Given the description of an element on the screen output the (x, y) to click on. 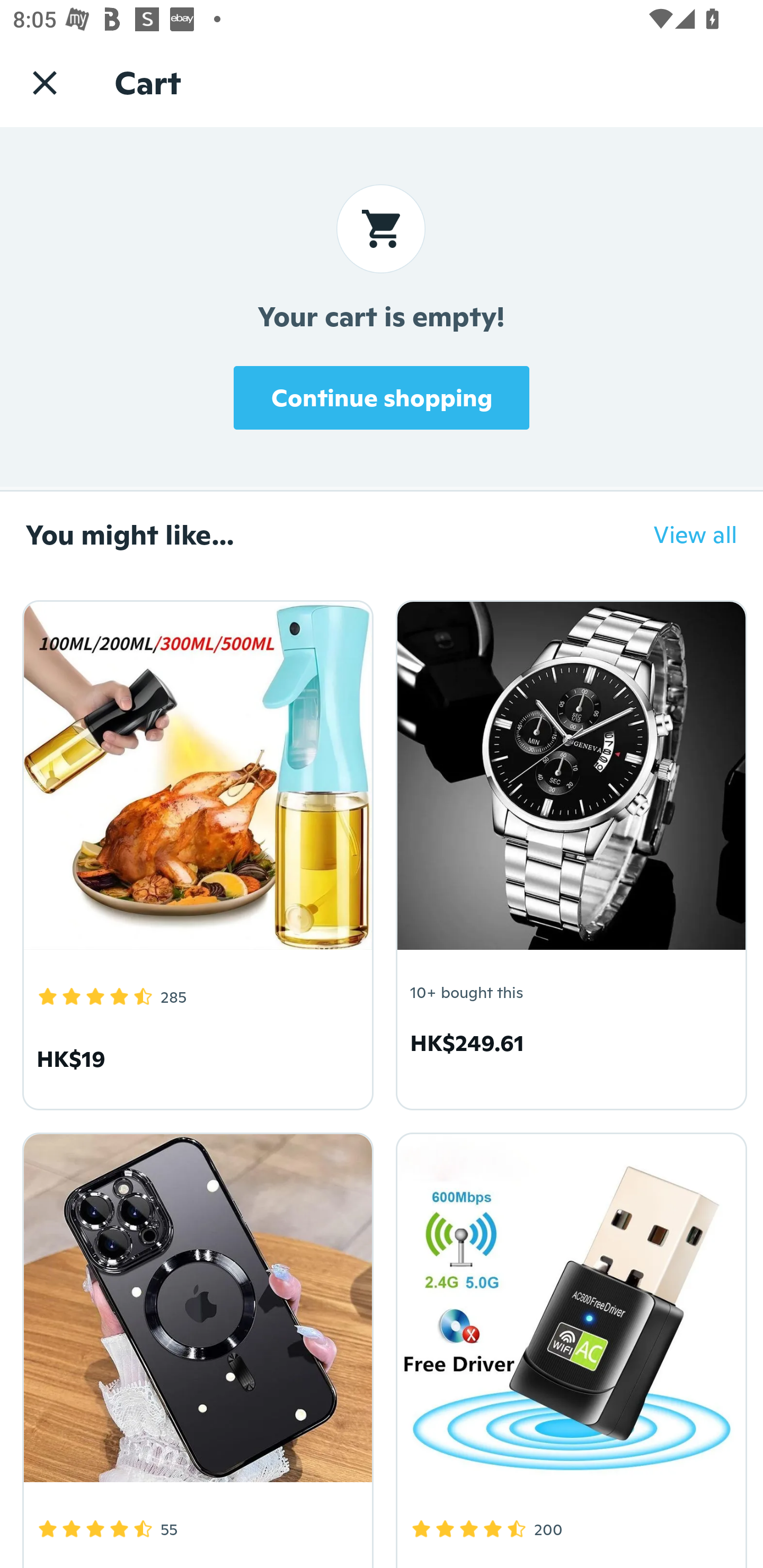
Navigate up (44, 82)
Continue shopping (381, 397)
View all (682, 534)
4.5 Star Rating 285 HK$19 (194, 852)
10+ bought this HK$249.61 (567, 852)
4.3 Star Rating 55 (194, 1346)
4.3 Star Rating 200 (567, 1346)
